Given the description of an element on the screen output the (x, y) to click on. 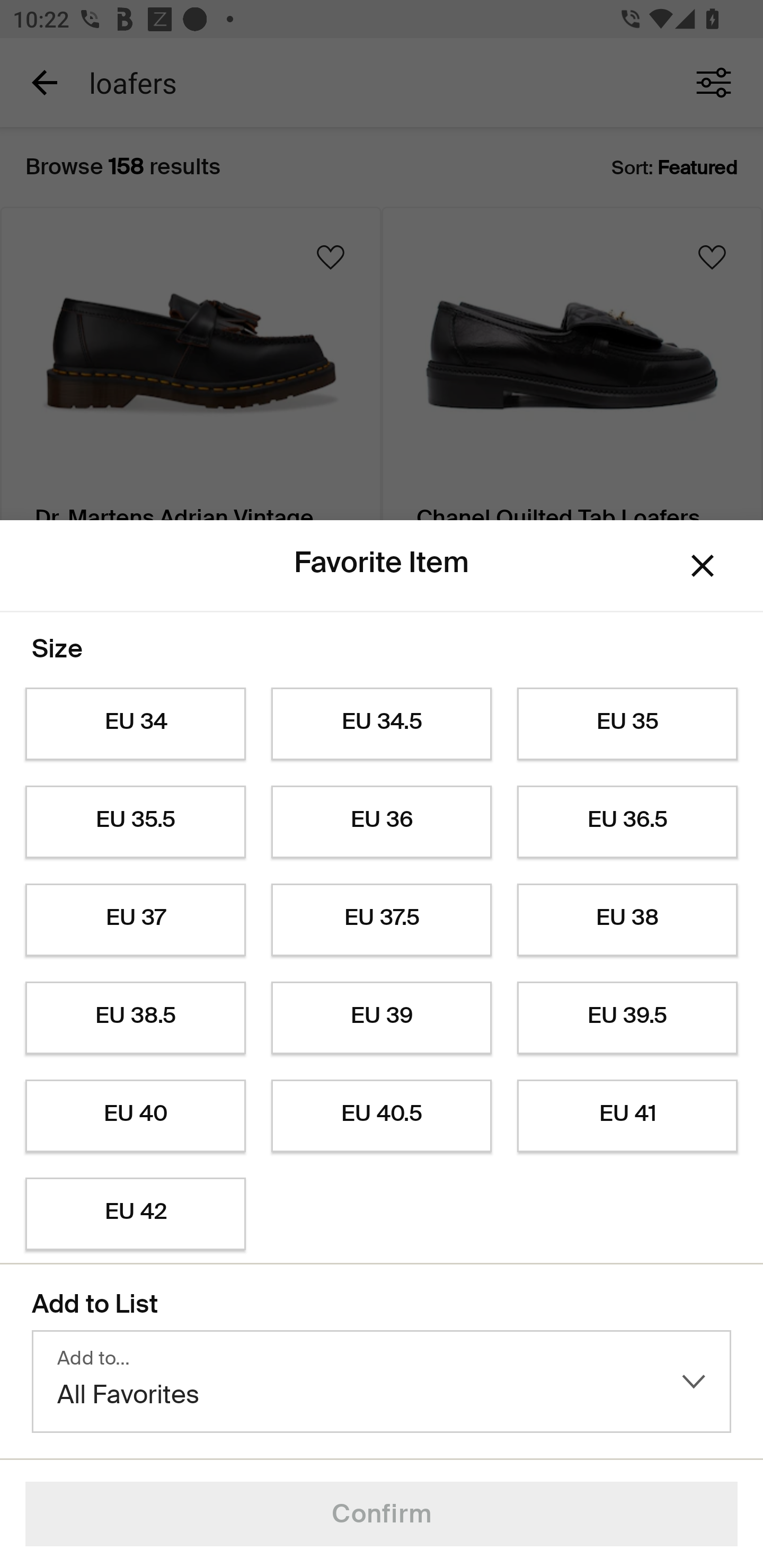
Dismiss (702, 564)
EU 34 (135, 724)
EU 34.5 (381, 724)
EU 35 (627, 724)
EU 35.5 (135, 822)
EU 36 (381, 822)
EU 36.5 (627, 822)
EU 37 (135, 919)
EU 37.5 (381, 919)
EU 38 (627, 919)
EU 38.5 (135, 1018)
EU 39 (381, 1018)
EU 39.5 (627, 1018)
EU 40 (135, 1116)
EU 40.5 (381, 1116)
EU 41 (627, 1116)
EU 42 (135, 1214)
Add to… All Favorites (381, 1381)
Confirm (381, 1513)
